Given the description of an element on the screen output the (x, y) to click on. 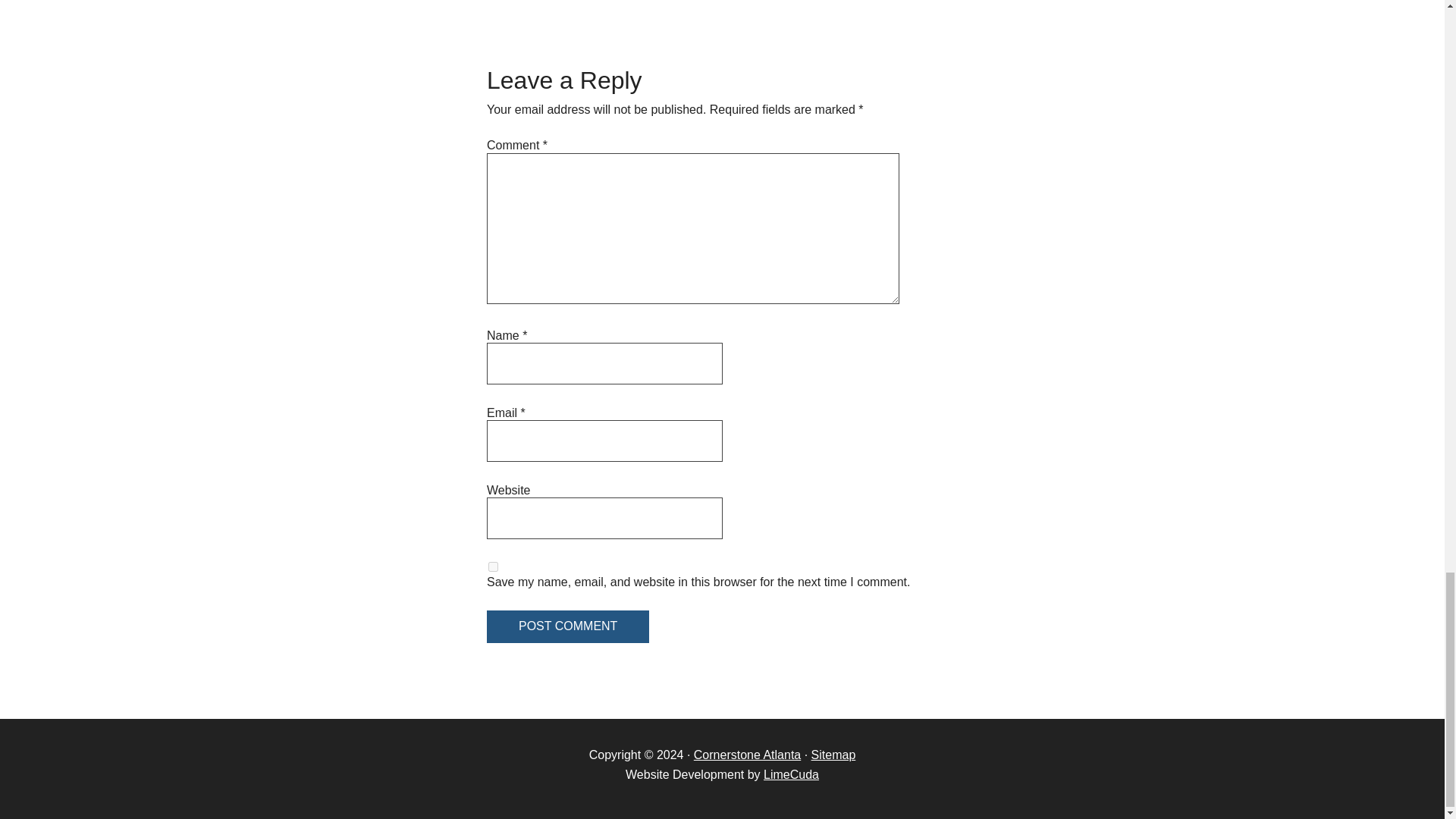
LimeCuda (790, 774)
yes (492, 566)
Cornerstone Atlanta (747, 754)
Strategic Website Development (790, 774)
Post Comment (567, 626)
Post Comment (567, 626)
Sitemap (833, 754)
